Given the description of an element on the screen output the (x, y) to click on. 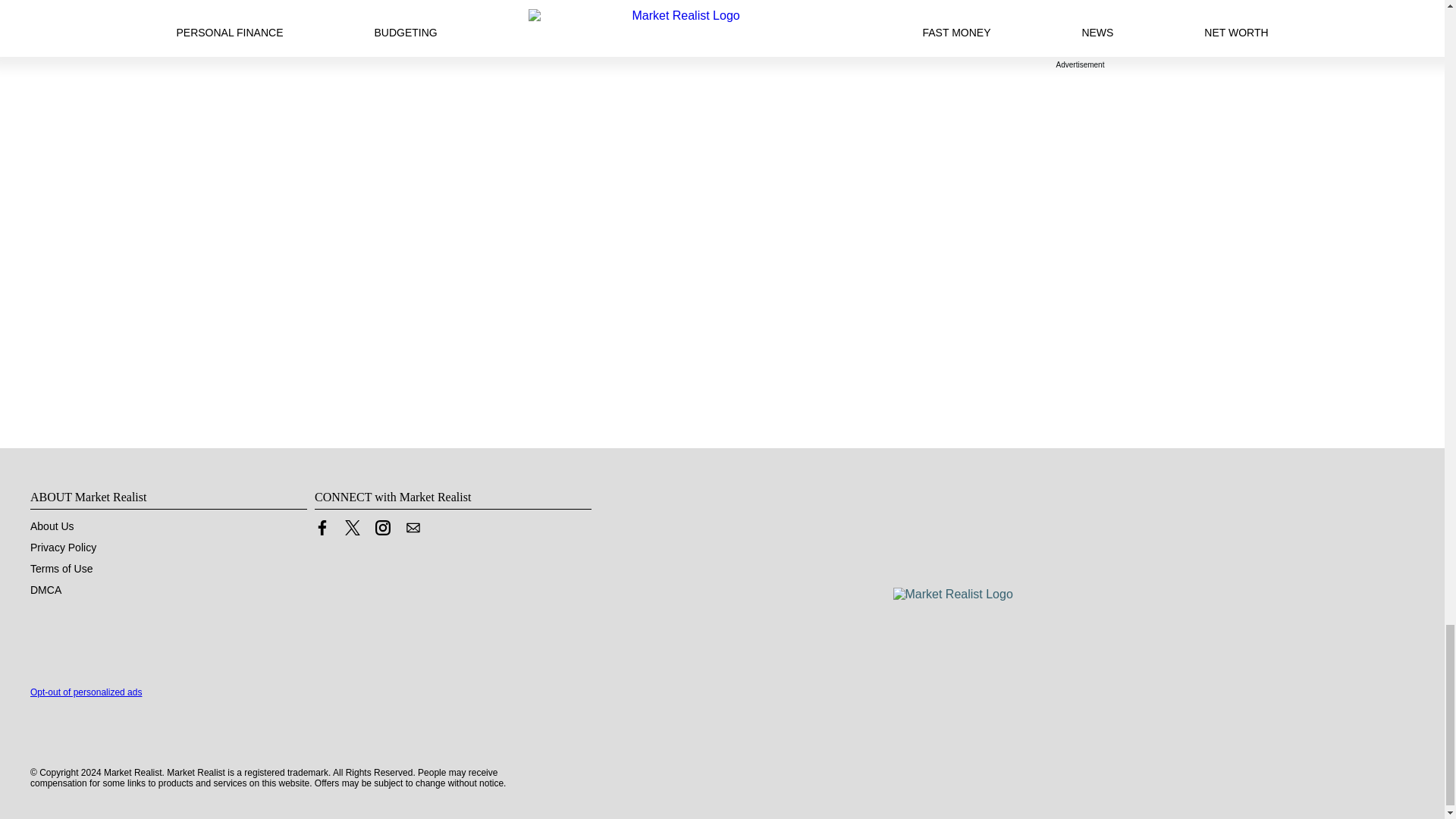
Terms of Use (61, 568)
Link to X (352, 531)
Link to Facebook (322, 527)
Link to Facebook (322, 531)
Contact us by Email (413, 527)
Privacy Policy (63, 547)
Link to Instagram (382, 531)
Terms of Use (61, 568)
Link to X (352, 527)
Privacy Policy (63, 547)
About Us (52, 526)
DMCA (45, 589)
Link to Instagram (382, 527)
Opt-out of personalized ads (85, 692)
DMCA (45, 589)
